Given the description of an element on the screen output the (x, y) to click on. 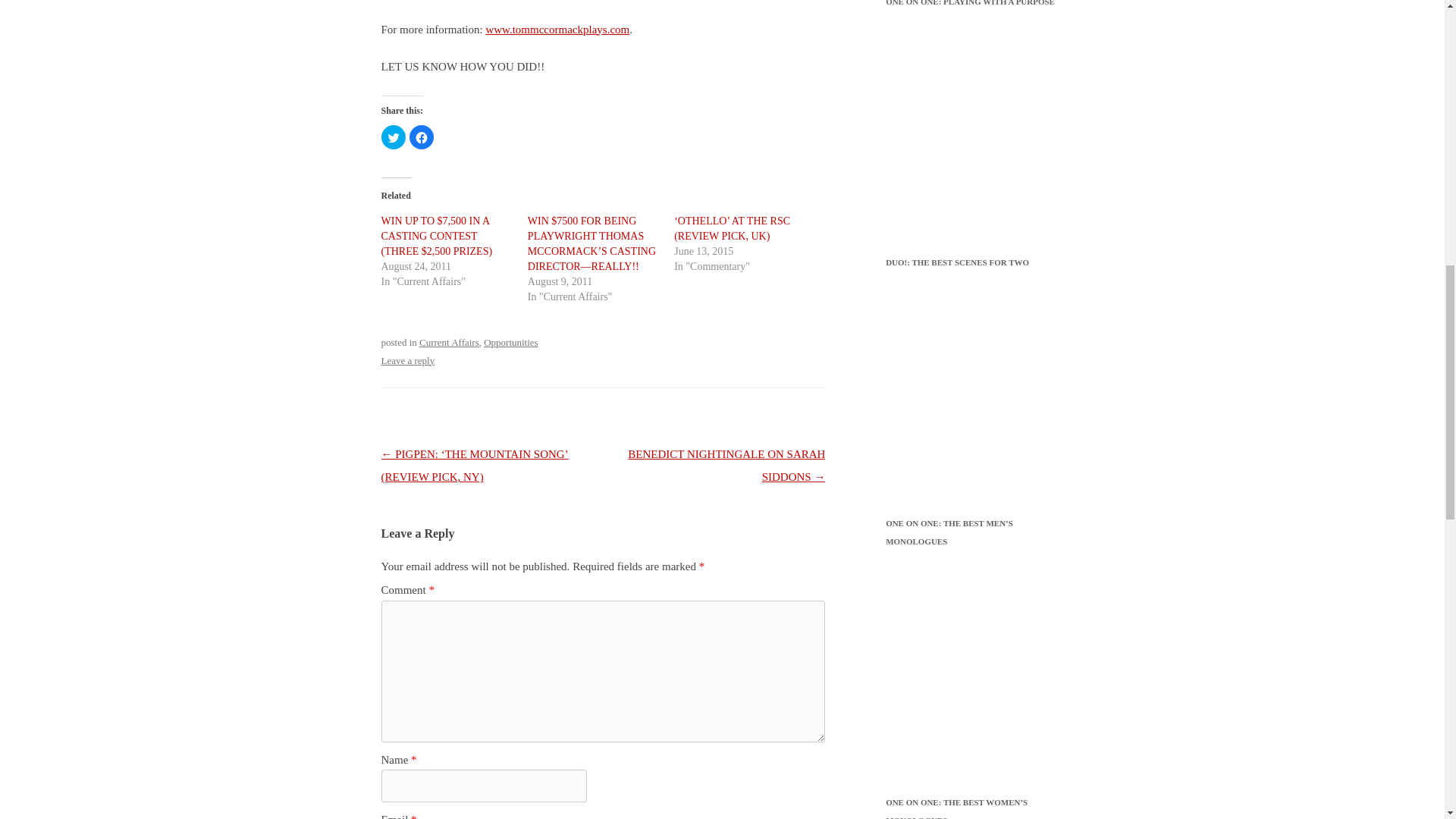
Click to share on Twitter (392, 137)
Click to share on Facebook (421, 137)
Leave a reply (406, 360)
www.tommccormackplays.com (556, 29)
Current Affairs (449, 342)
Opportunities (510, 342)
